Given the description of an element on the screen output the (x, y) to click on. 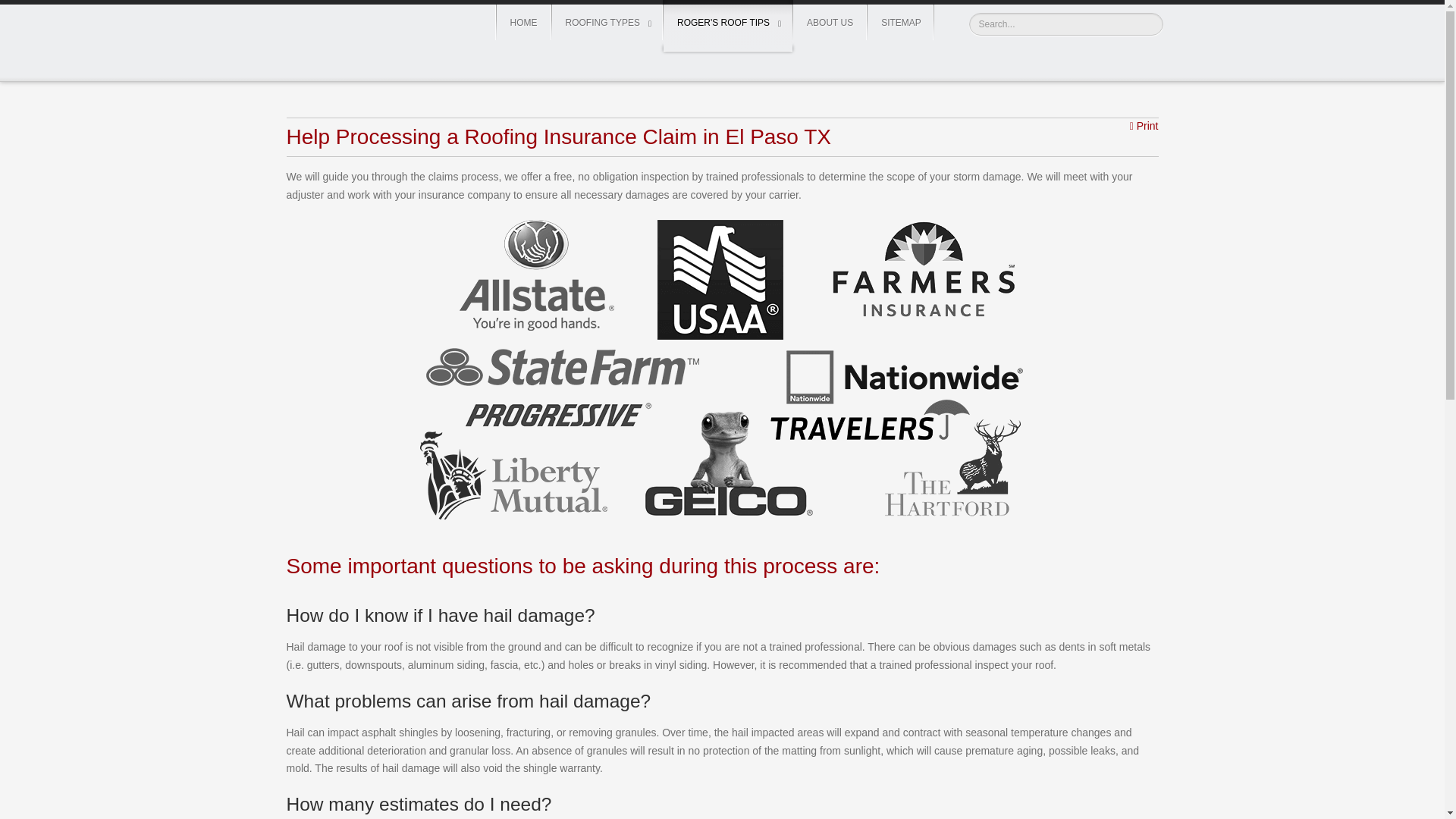
HOME (523, 22)
ROGER'S ROOF TIPS (727, 25)
Print (1143, 125)
Help Processing a Roofing Insurance Claim in El Paso TX (558, 136)
ABOUT US (829, 22)
SITEMAP (900, 22)
ROOFING TYPES (606, 22)
